Given the description of an element on the screen output the (x, y) to click on. 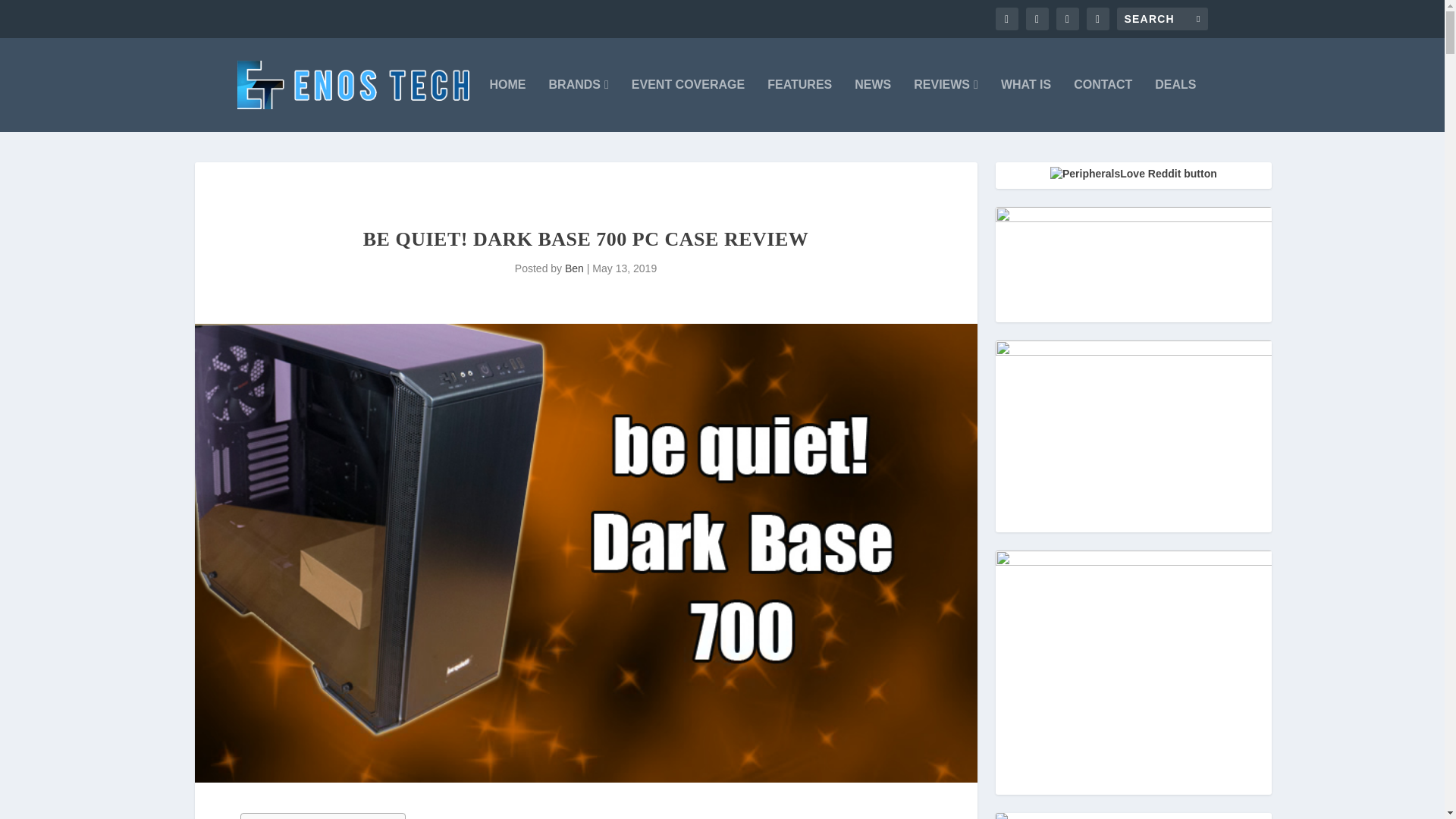
EVENT COVERAGE (687, 104)
Posts by Ben (573, 268)
REVIEWS (946, 104)
FEATURES (799, 104)
BRANDS (578, 104)
Search for: (1161, 18)
